Given the description of an element on the screen output the (x, y) to click on. 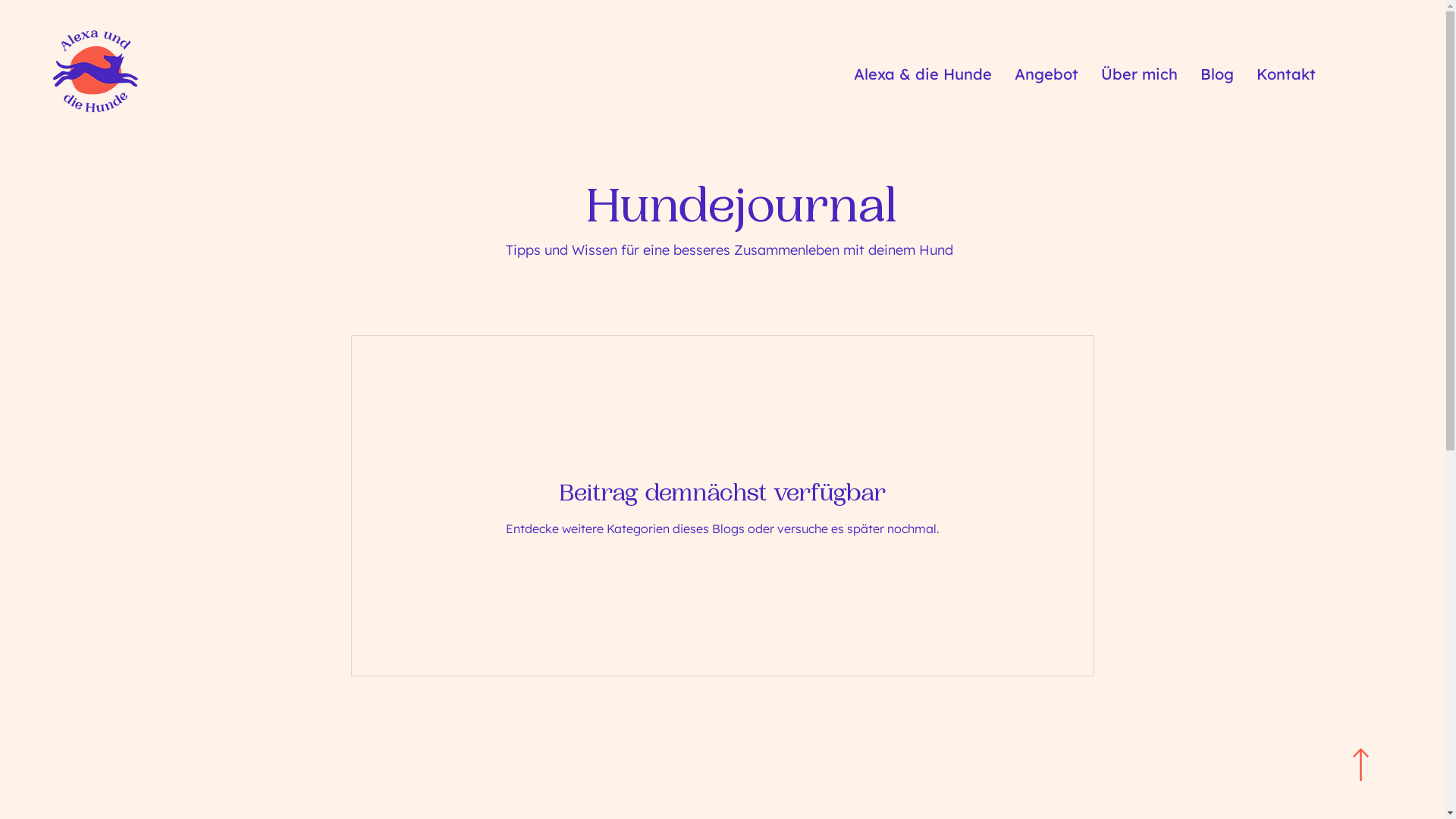
Blog Element type: text (1217, 74)
Kontakt Element type: text (1286, 74)
Angebot Element type: text (1046, 74)
Alexa & die Hunde Element type: text (922, 74)
